Given the description of an element on the screen output the (x, y) to click on. 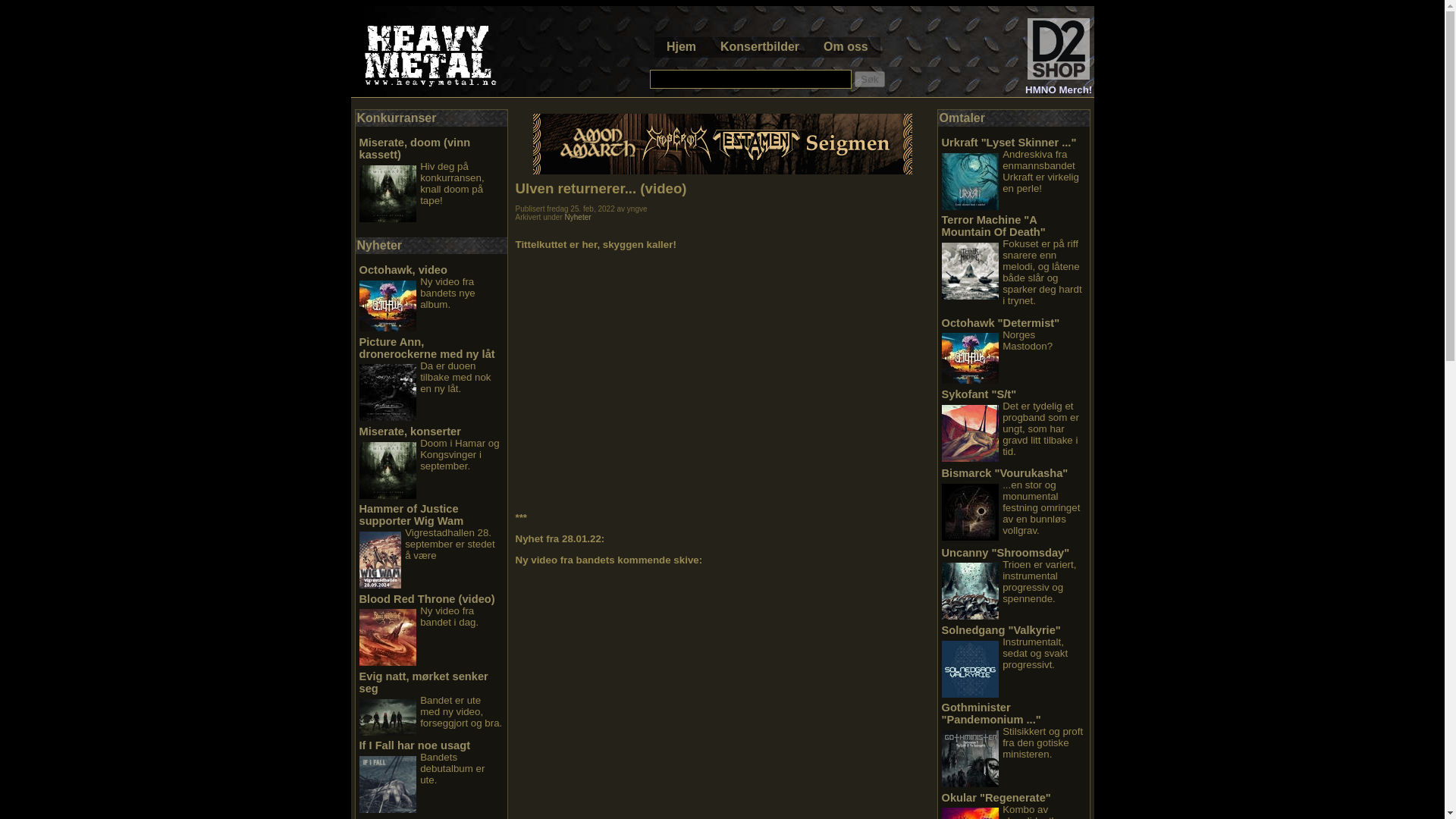
Solnedgang "Valkyrie" (1001, 630)
Bismarck "Vourukasha" (1005, 472)
If I Fall Album 24 (387, 784)
Konsertbilder (759, 46)
Octohawk, video (402, 269)
YouTube video player (705, 379)
If I Fall har noe usagt (414, 745)
Urkraft "Lyset Skinner ..." (1009, 142)
Hammer of Justice supporter Wig Wam (411, 514)
Miserate, konserter (410, 431)
Picture Ann 24 (387, 391)
Hjem (680, 46)
YouTube video player (705, 695)
Miserate Album 24 (387, 470)
Urkraft 24 (970, 181)
